Given the description of an element on the screen output the (x, y) to click on. 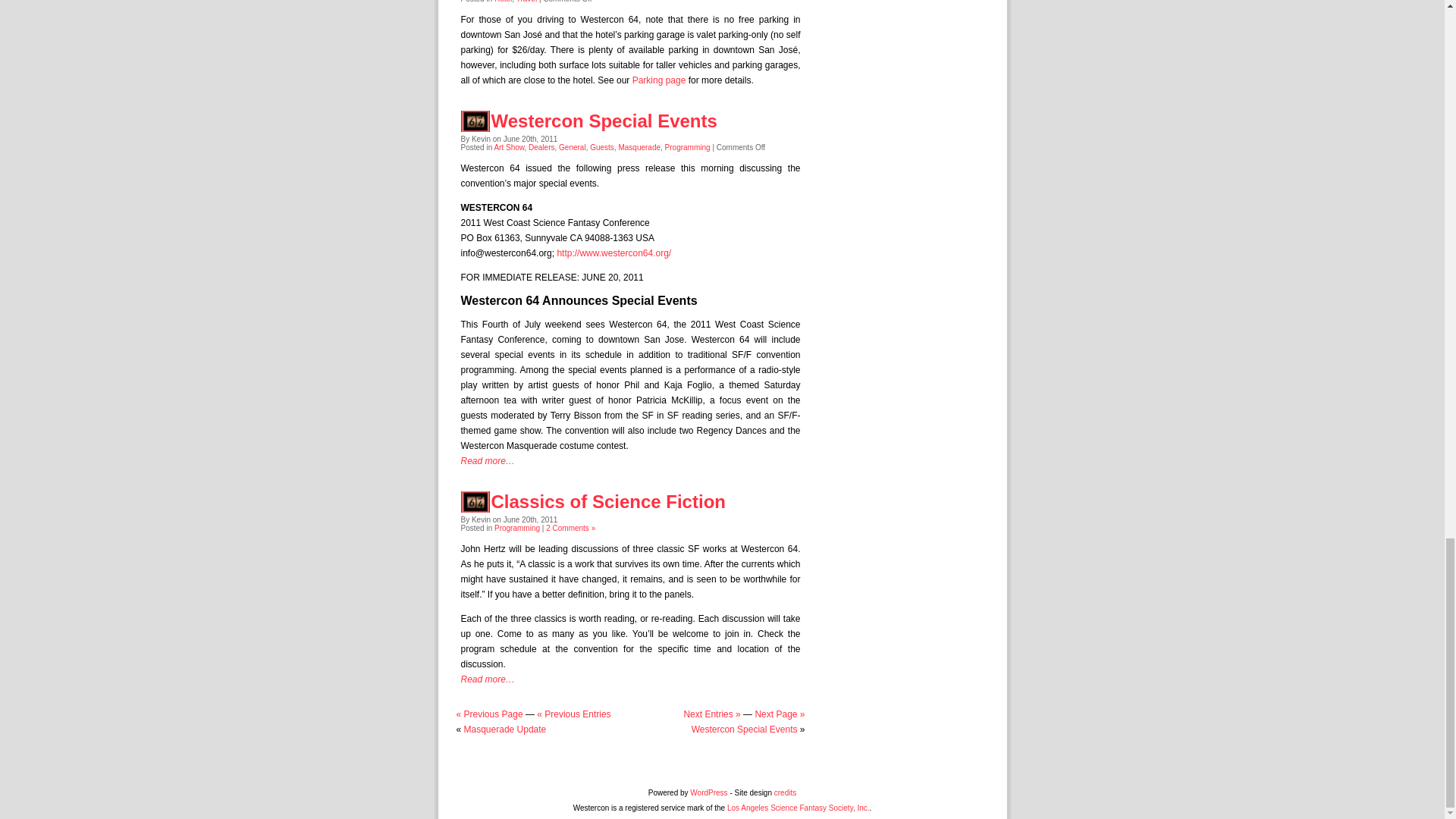
Travel (526, 1)
Hotel (503, 1)
Parking page (658, 80)
